Given the description of an element on the screen output the (x, y) to click on. 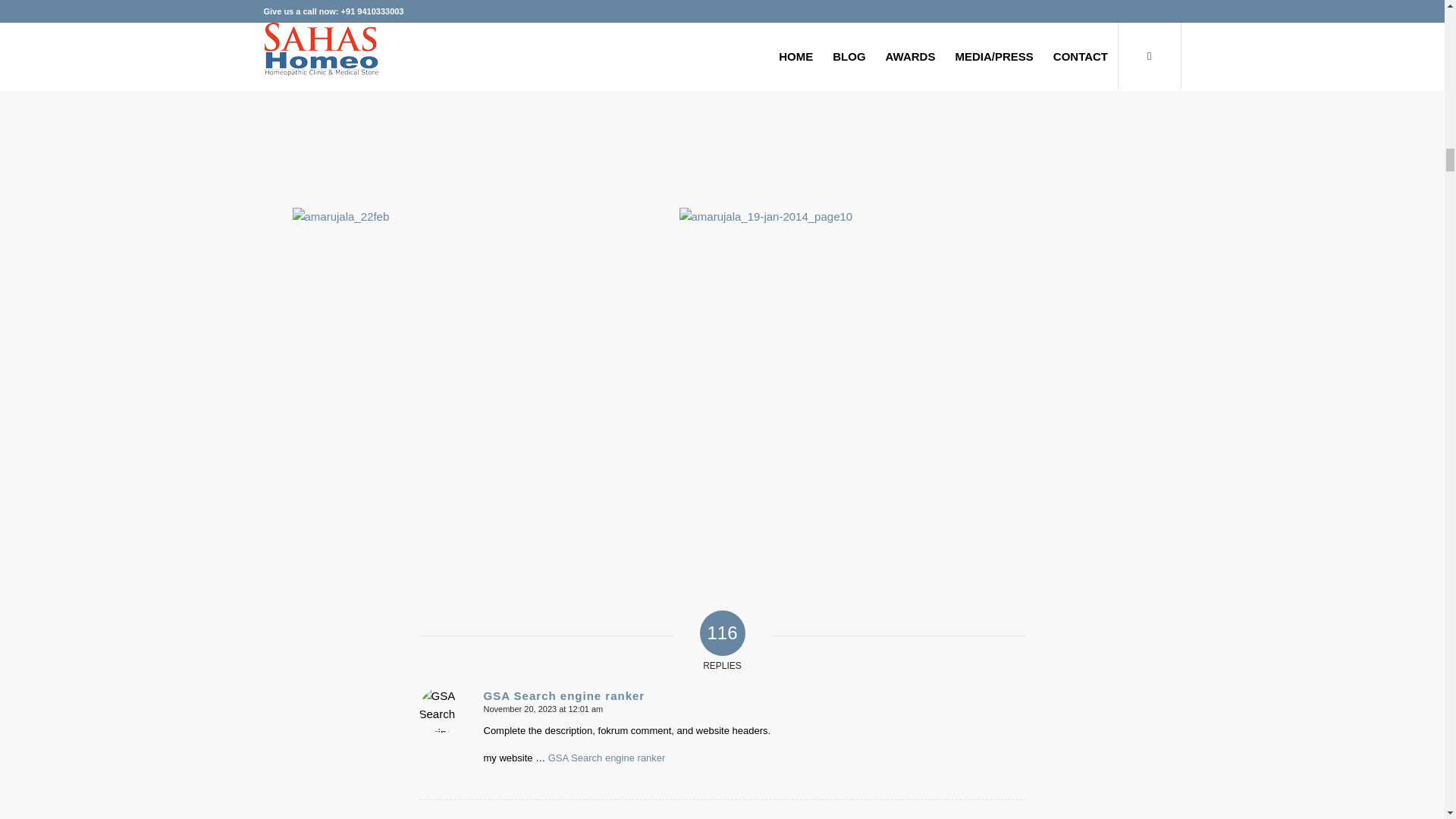
November 20, 2023 at 12:01 am (543, 708)
GSA Search engine ranker (564, 694)
GSA Search engine ranker (606, 757)
